Given the description of an element on the screen output the (x, y) to click on. 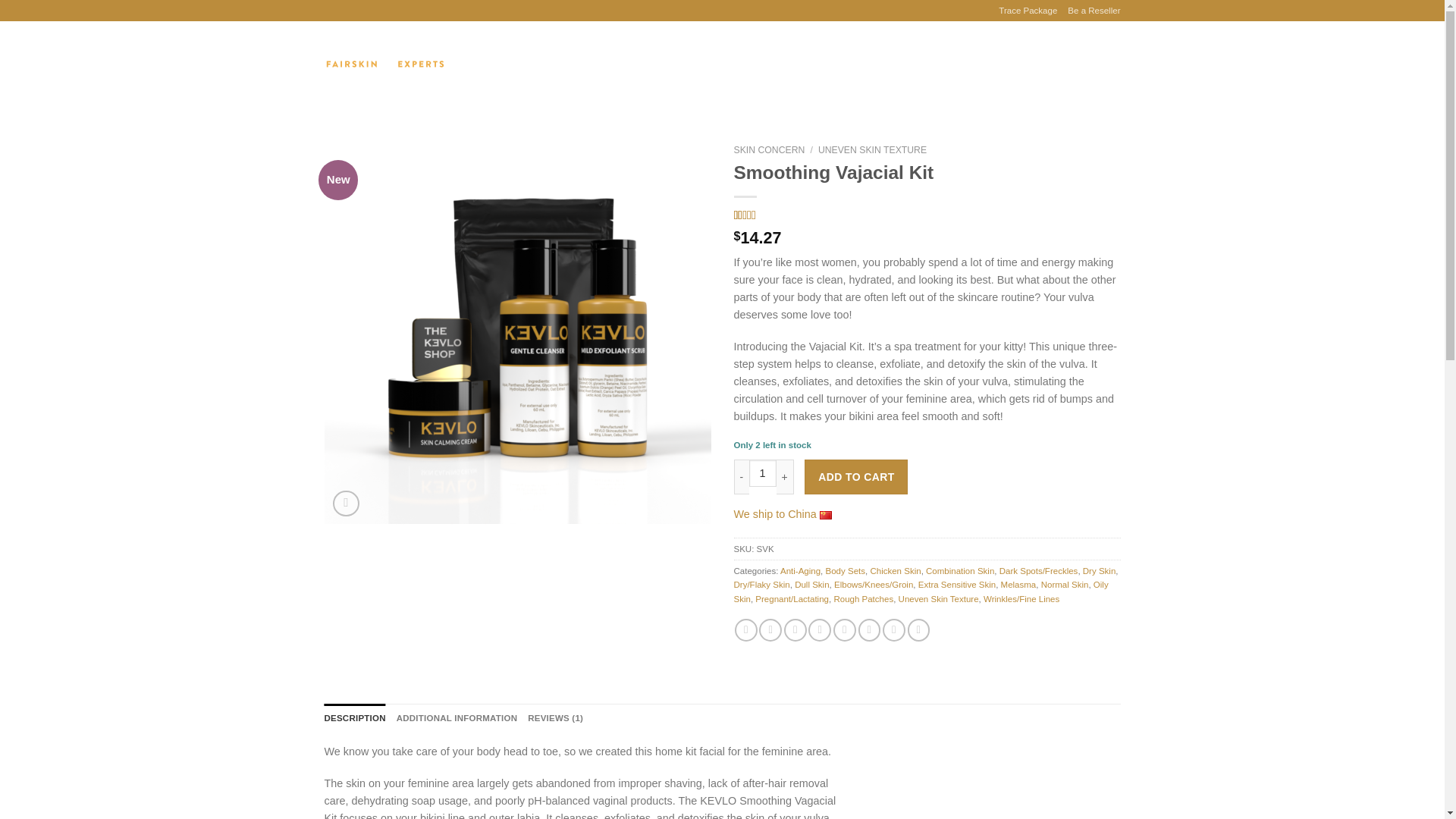
TESTIMONIALS (696, 63)
Share on Facebook (746, 630)
Fair Skin Experts - Unlock your radiant glow (384, 63)
Email to a Friend (795, 630)
DISCOVER (513, 63)
Be a Reseller (1093, 10)
Share on Twitter (769, 630)
Zoom (346, 503)
Trace Package (1027, 10)
1 (762, 472)
